Given the description of an element on the screen output the (x, y) to click on. 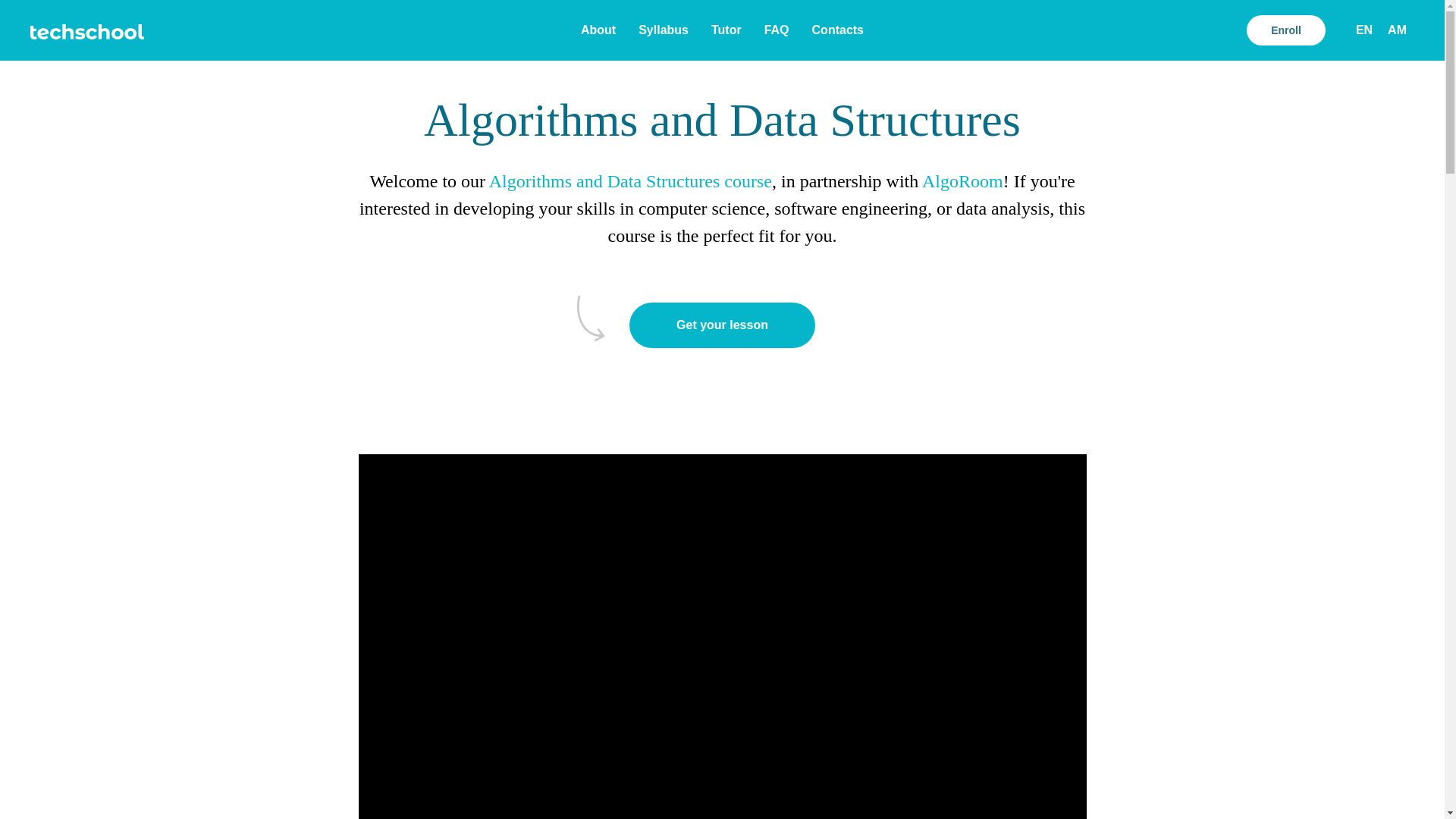
Tutor (726, 29)
Contacts (837, 29)
EN (1364, 29)
AM (1396, 29)
Enroll (1285, 30)
Get your lesson (721, 325)
FAQ (776, 29)
Syllabus (663, 29)
About (597, 29)
AlgoRoom (962, 180)
